Given the description of an element on the screen output the (x, y) to click on. 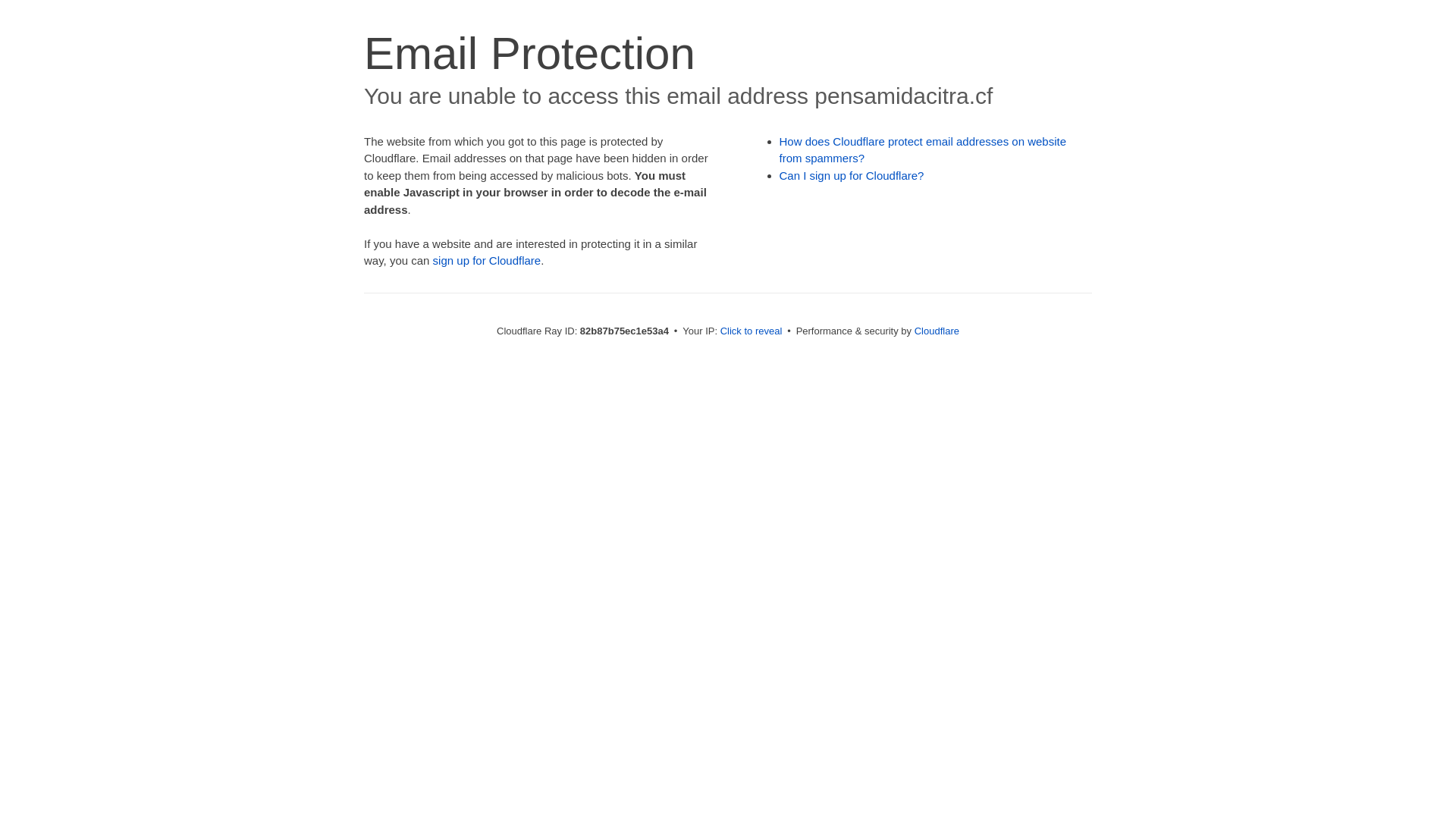
Cloudflare Element type: text (936, 330)
Click to reveal Element type: text (751, 330)
Can I sign up for Cloudflare? Element type: text (851, 175)
sign up for Cloudflare Element type: text (487, 260)
